Given the description of an element on the screen output the (x, y) to click on. 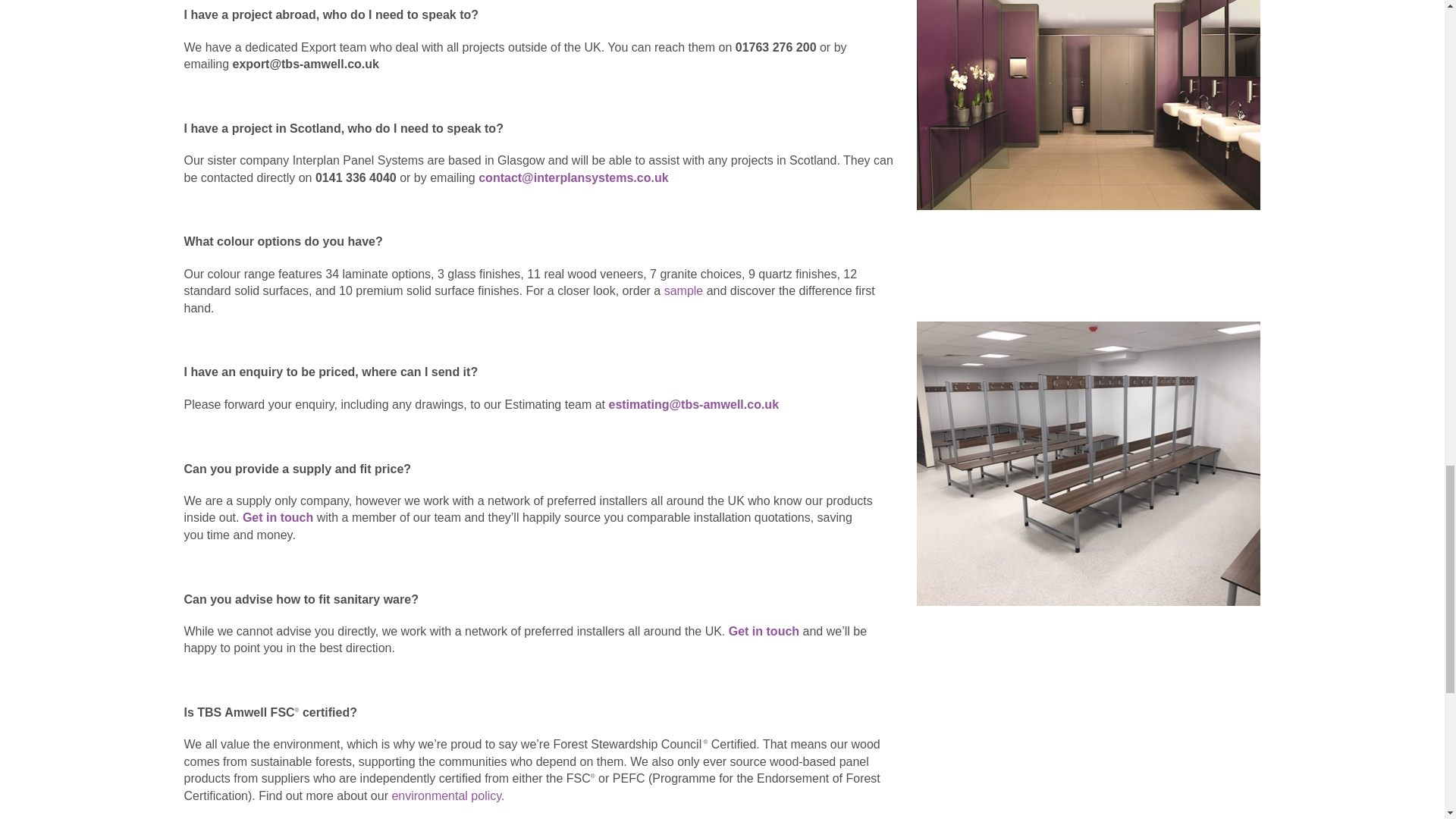
Get in Touch (278, 517)
Environmental (447, 795)
Get in Touch (764, 631)
Samples (684, 290)
